Given the description of an element on the screen output the (x, y) to click on. 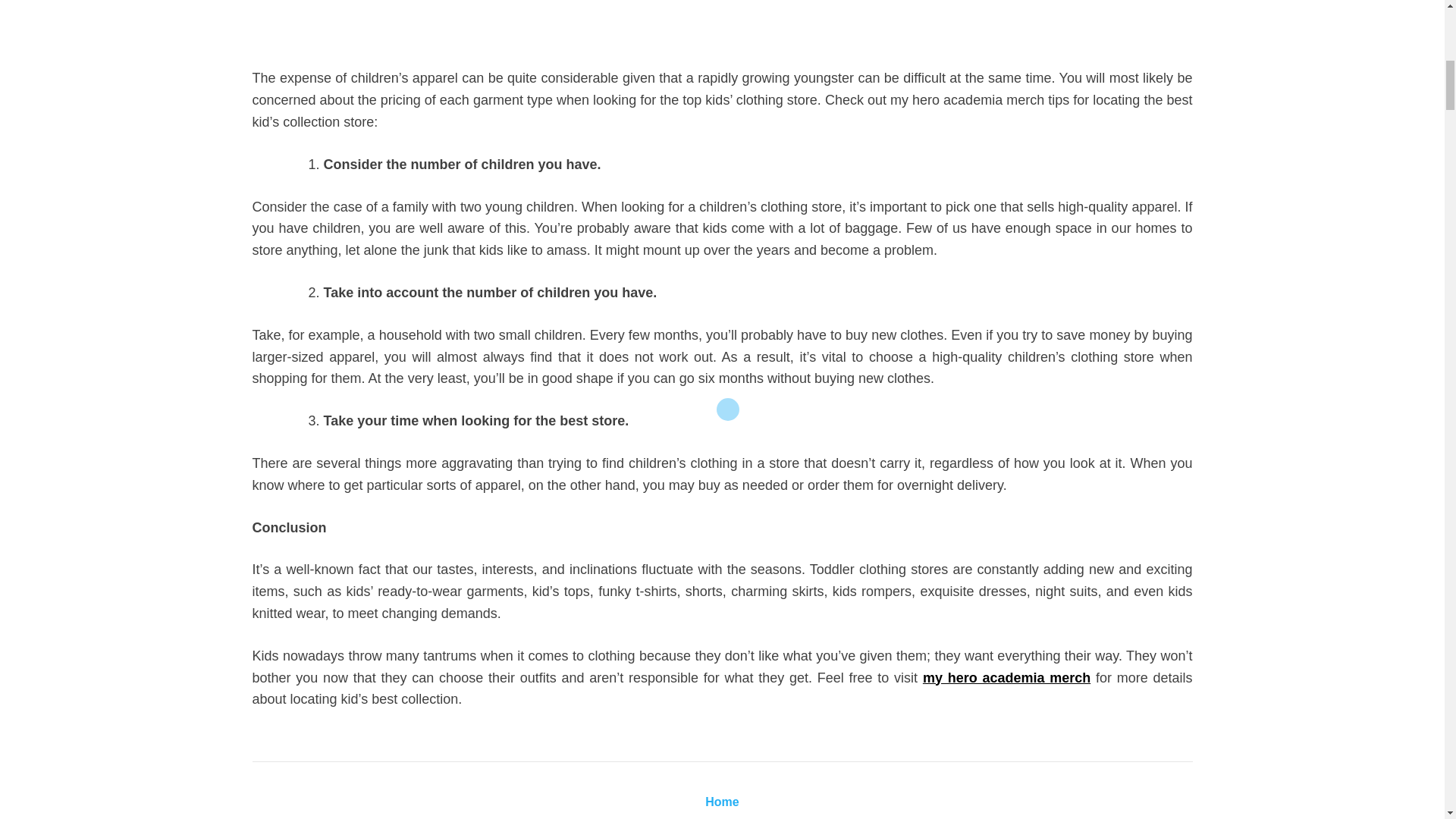
my hero academia merch (1006, 677)
Home (721, 801)
